Given the description of an element on the screen output the (x, y) to click on. 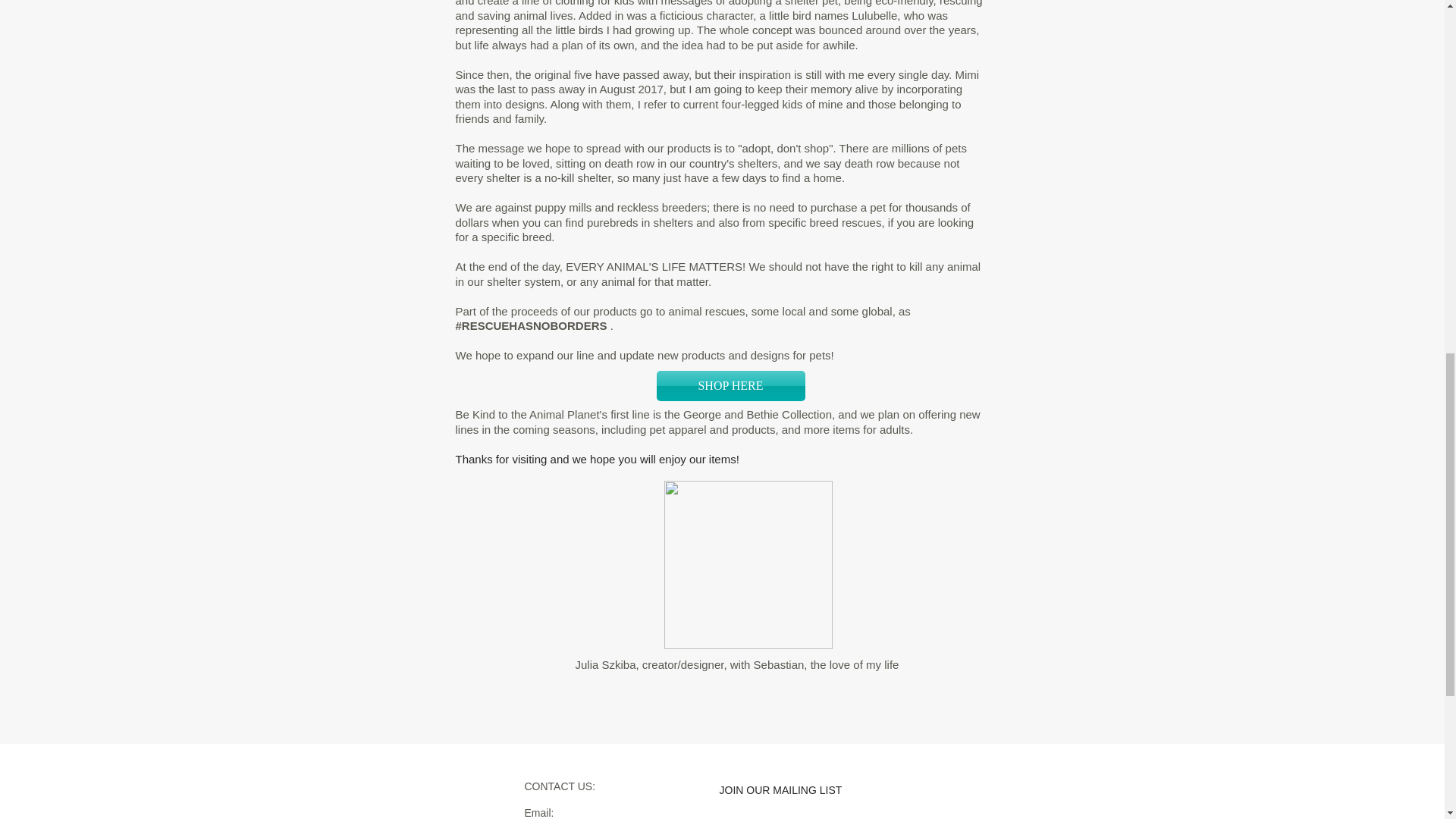
SHOP HERE (730, 386)
